Given the description of an element on the screen output the (x, y) to click on. 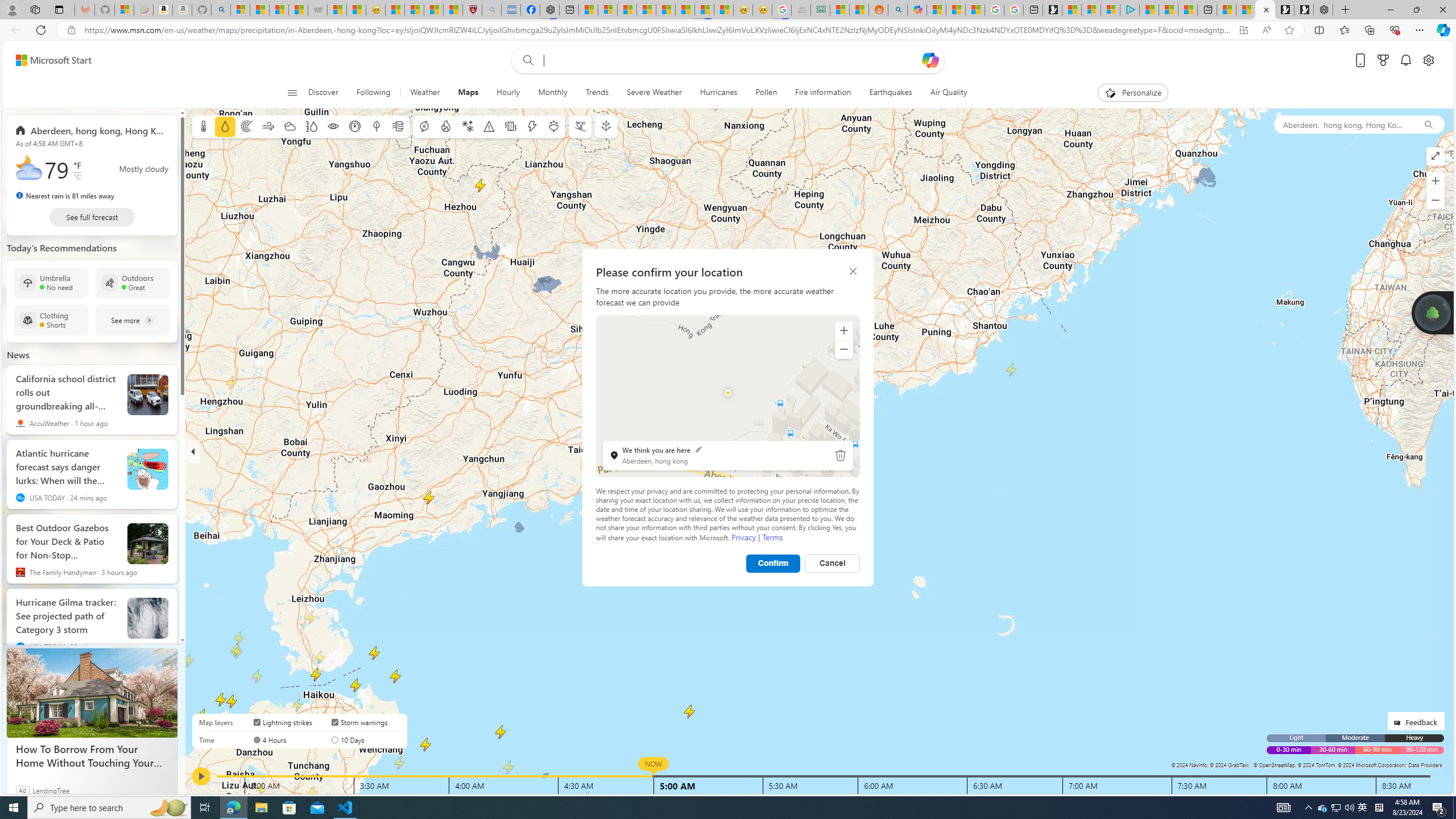
Earthquakes (890, 92)
Severe weather (489, 126)
Nearest rain is 81 miles away (65, 195)
New tab (1206, 9)
Air quality (397, 126)
Dew point (376, 126)
Humidity (311, 126)
Following (373, 92)
How To Borrow From Your Home Without Touching Your Mortgage (92, 755)
Sea level pressure (355, 126)
Confirm (772, 562)
